Given the description of an element on the screen output the (x, y) to click on. 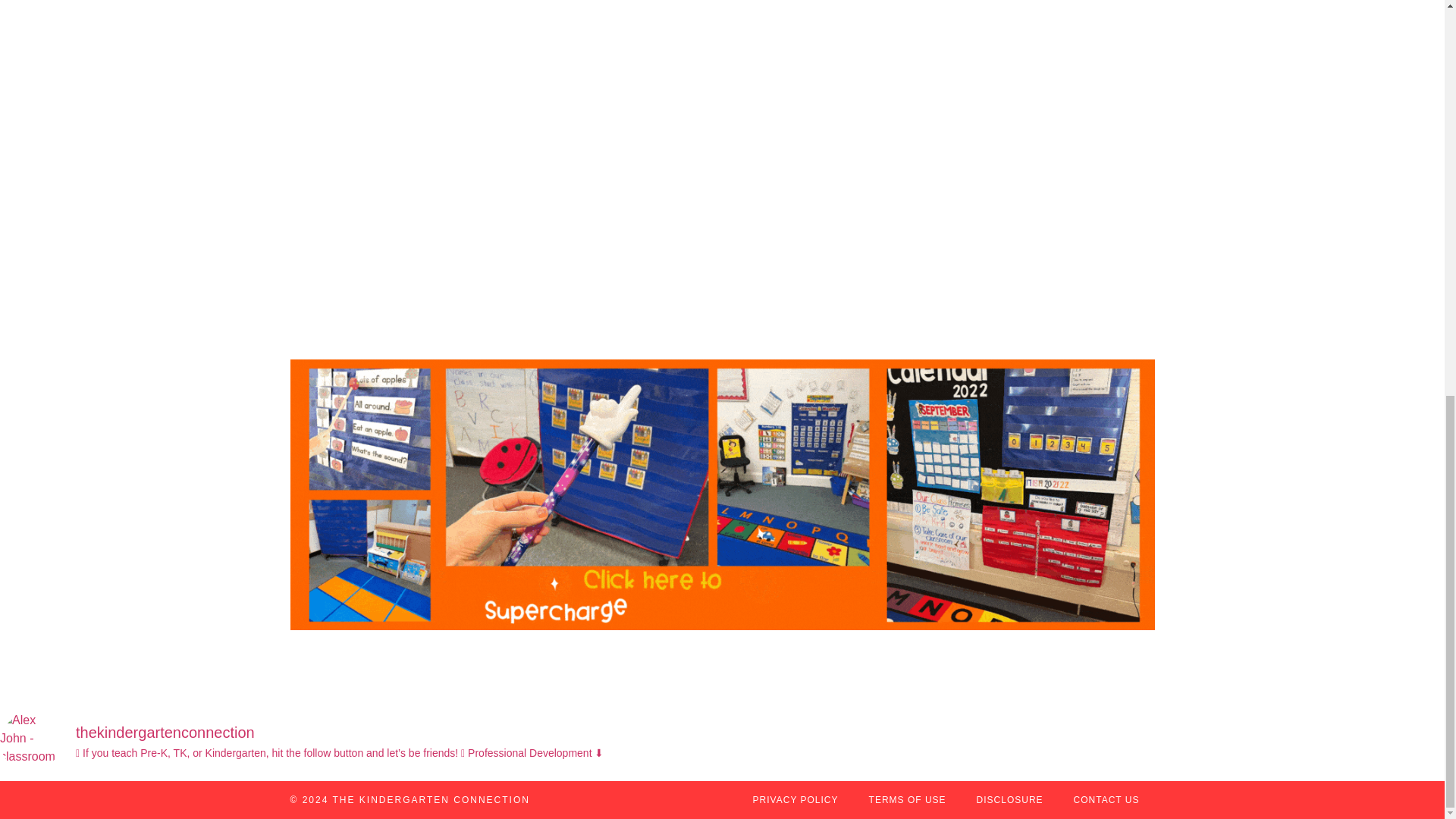
Spider Books for Kids (720, 167)
Spider Pre-Writing Practice Printables (1009, 167)
Spider Color Words Activity (434, 167)
